Given the description of an element on the screen output the (x, y) to click on. 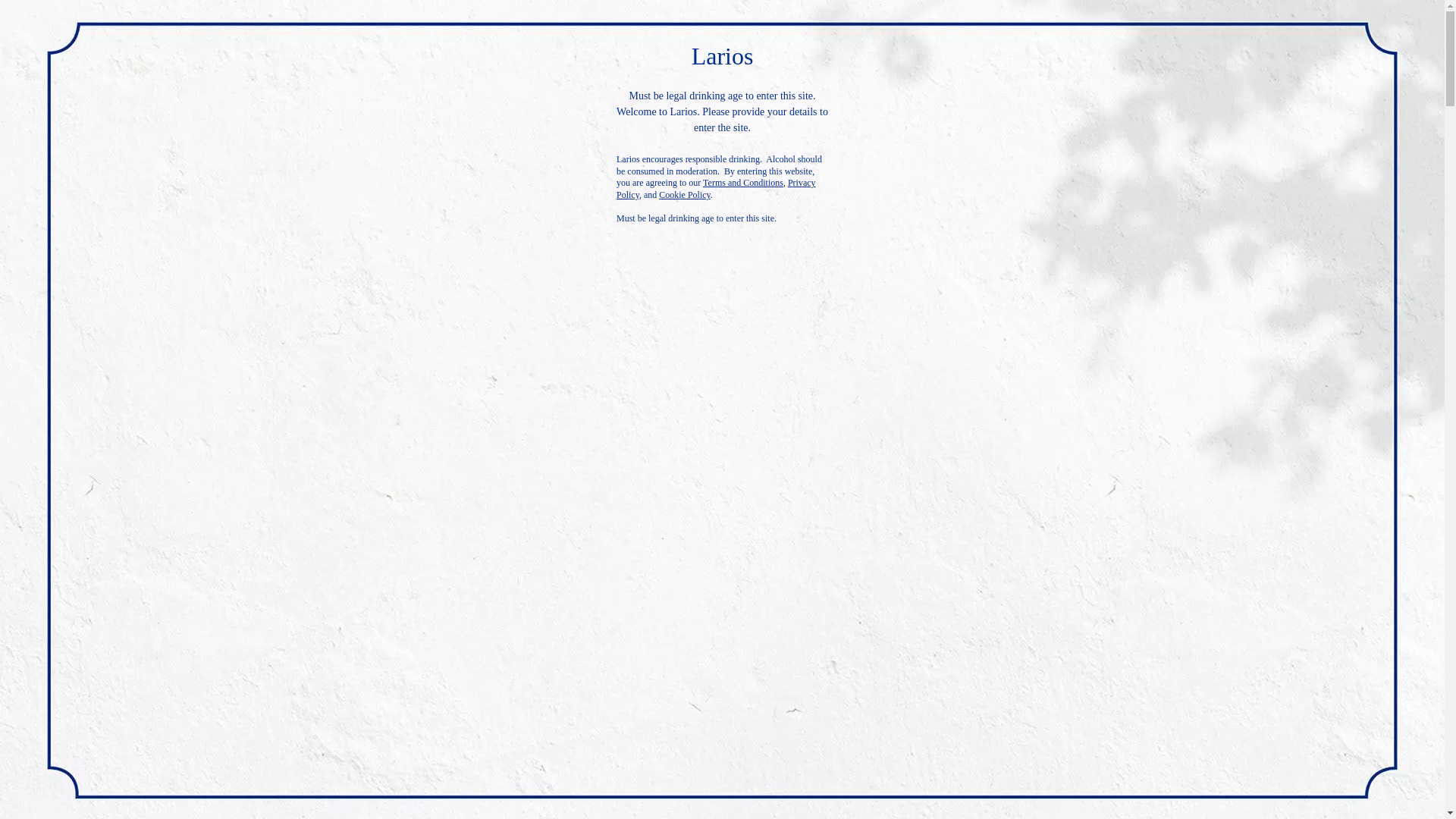
Larios Gin Homepage (47, 32)
Terms and Conditions (743, 182)
COCKTAILS (795, 32)
Privacy Policy (715, 188)
ABOUT US (699, 32)
SHARE (833, 506)
Cookie Policy (684, 194)
Home (30, 74)
Gins (68, 74)
